Given the description of an element on the screen output the (x, y) to click on. 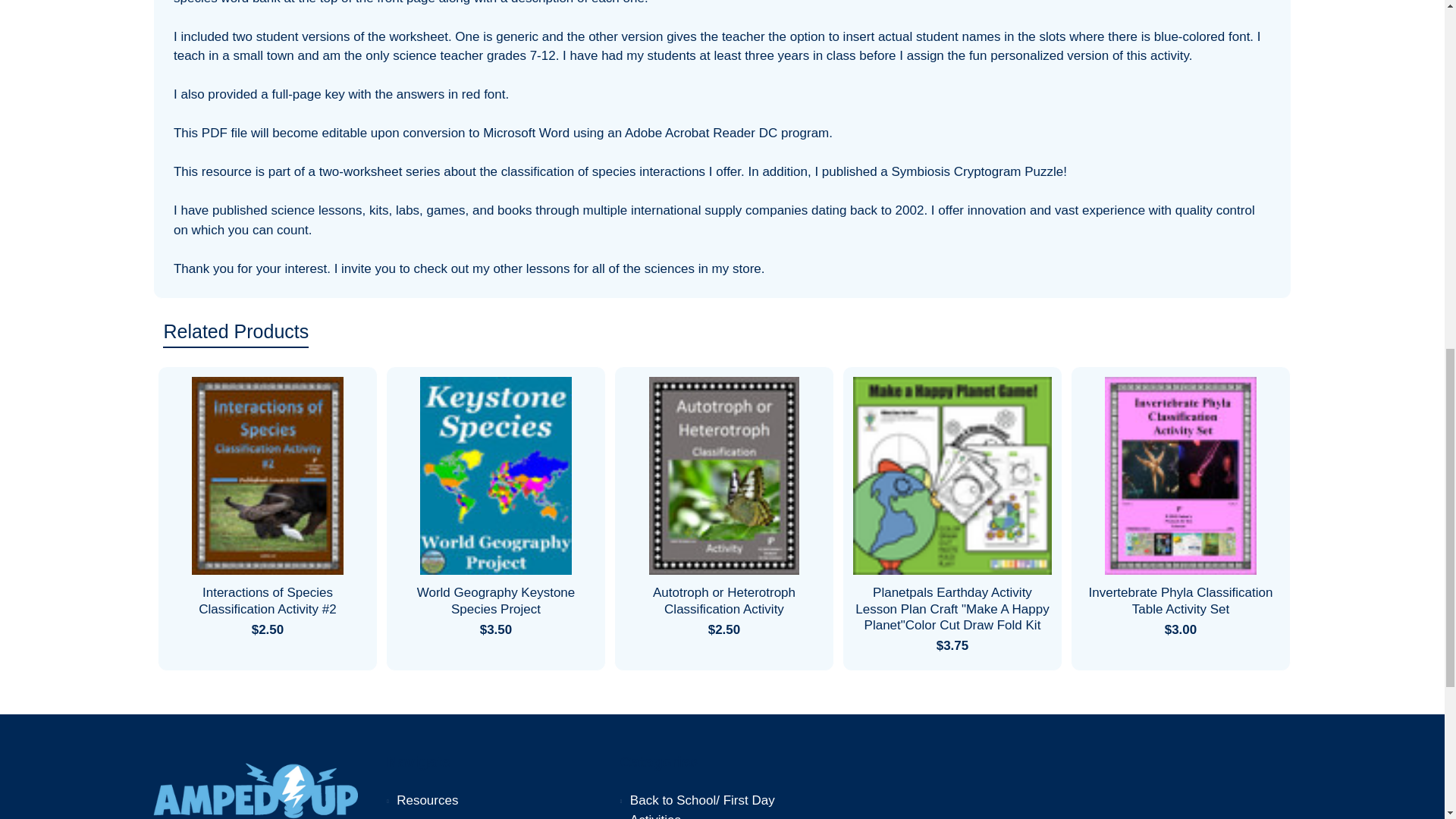
World Geography Keystone Species Project (495, 475)
Invertebrate Phyla Classification Table Activity Set (1180, 475)
Autotroph or Heterotroph Classification Activity (723, 475)
